Given the description of an element on the screen output the (x, y) to click on. 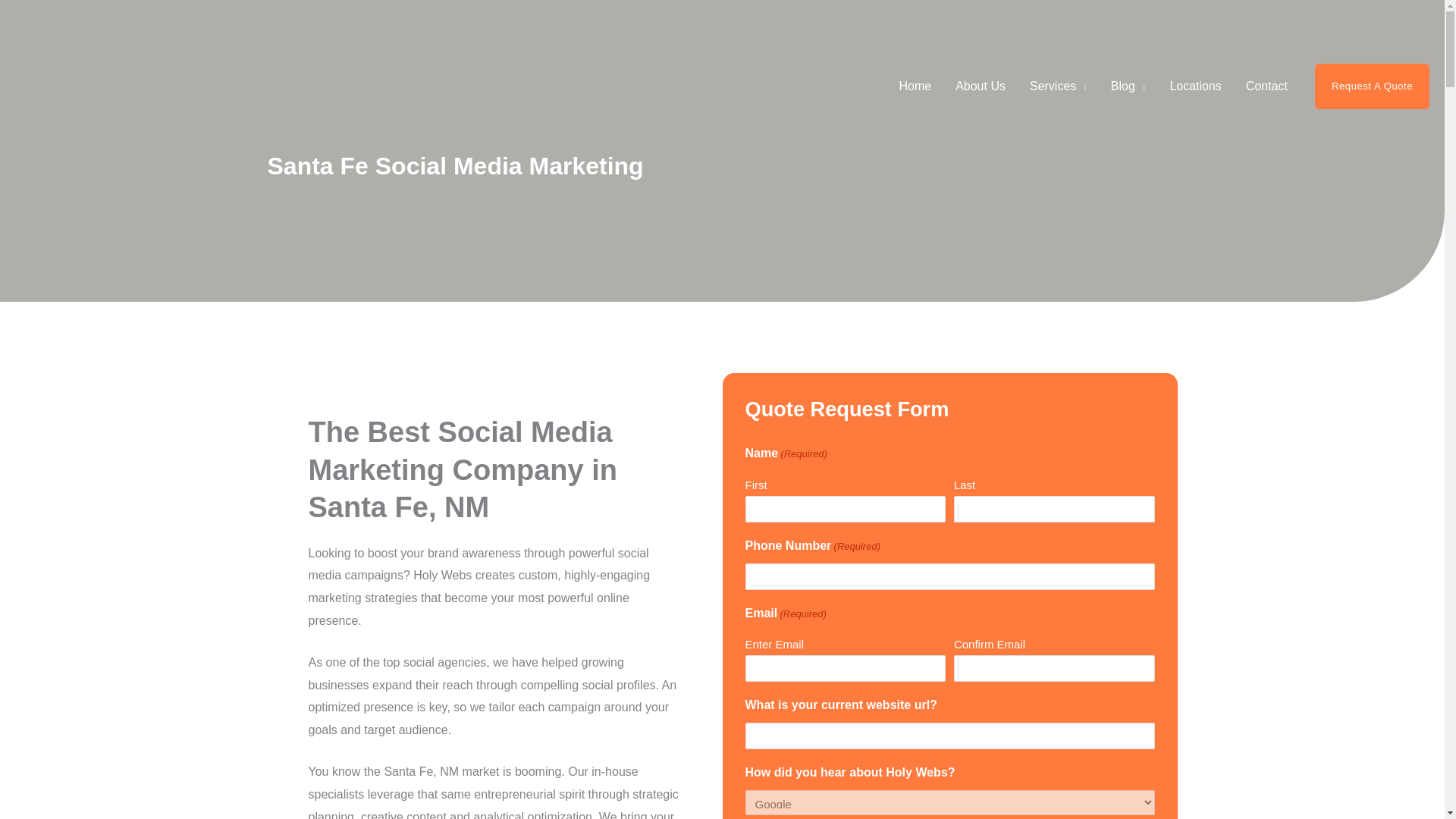
Request A Quote (1371, 85)
Locations (1195, 86)
Contact (1266, 86)
Blog (1128, 86)
Services (1058, 86)
About Us (980, 86)
Home (914, 86)
